Given the description of an element on the screen output the (x, y) to click on. 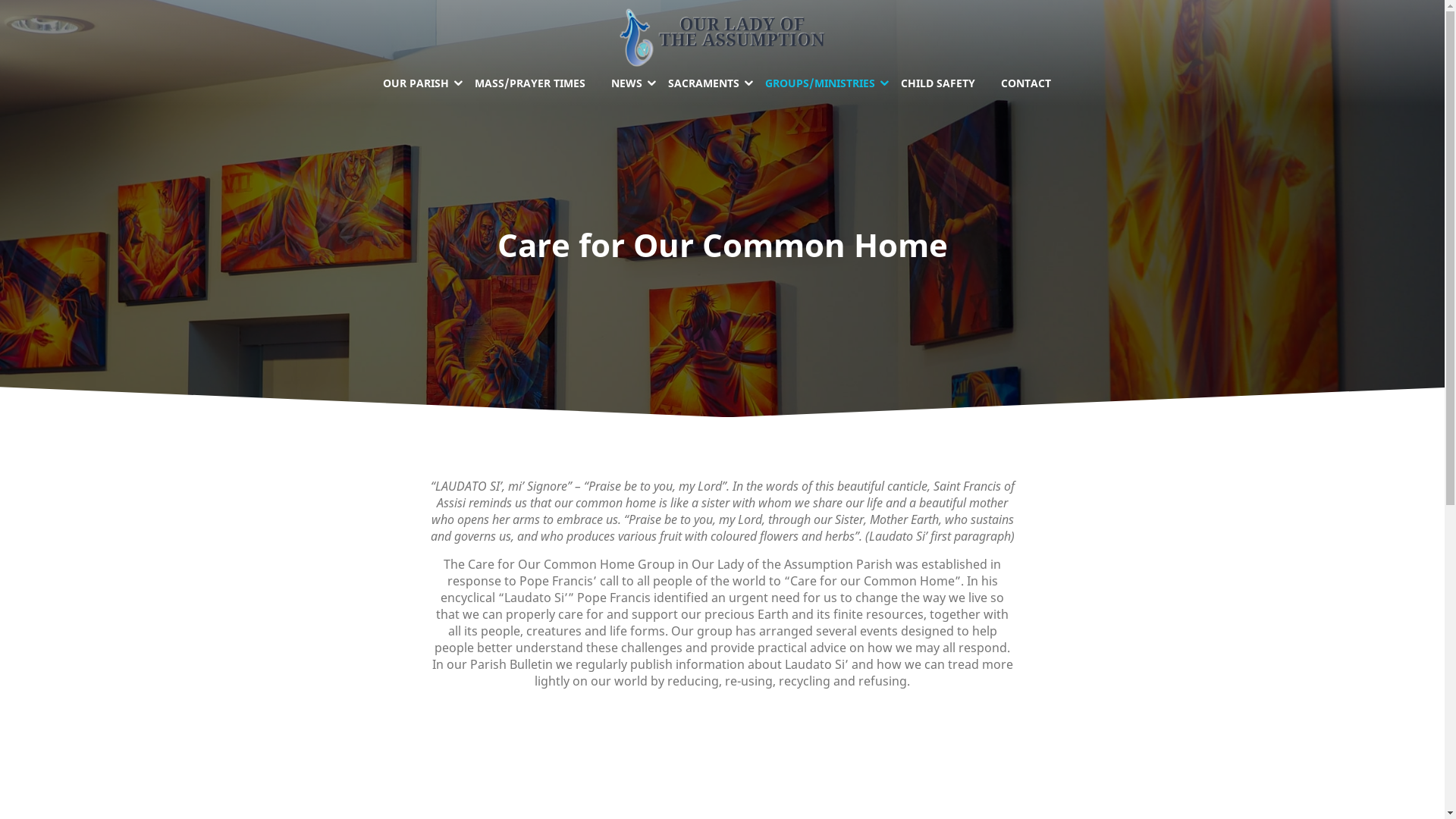
MASS/PRAYER TIMES Element type: text (529, 82)
GROUPS/MINISTRIES Element type: text (819, 82)
SACRAMENTS Element type: text (703, 82)
OUR PARISH Element type: text (420, 82)
CONTACT Element type: text (1024, 82)
CHILD SAFETY Element type: text (936, 82)
NEWS Element type: text (625, 82)
